Given the description of an element on the screen output the (x, y) to click on. 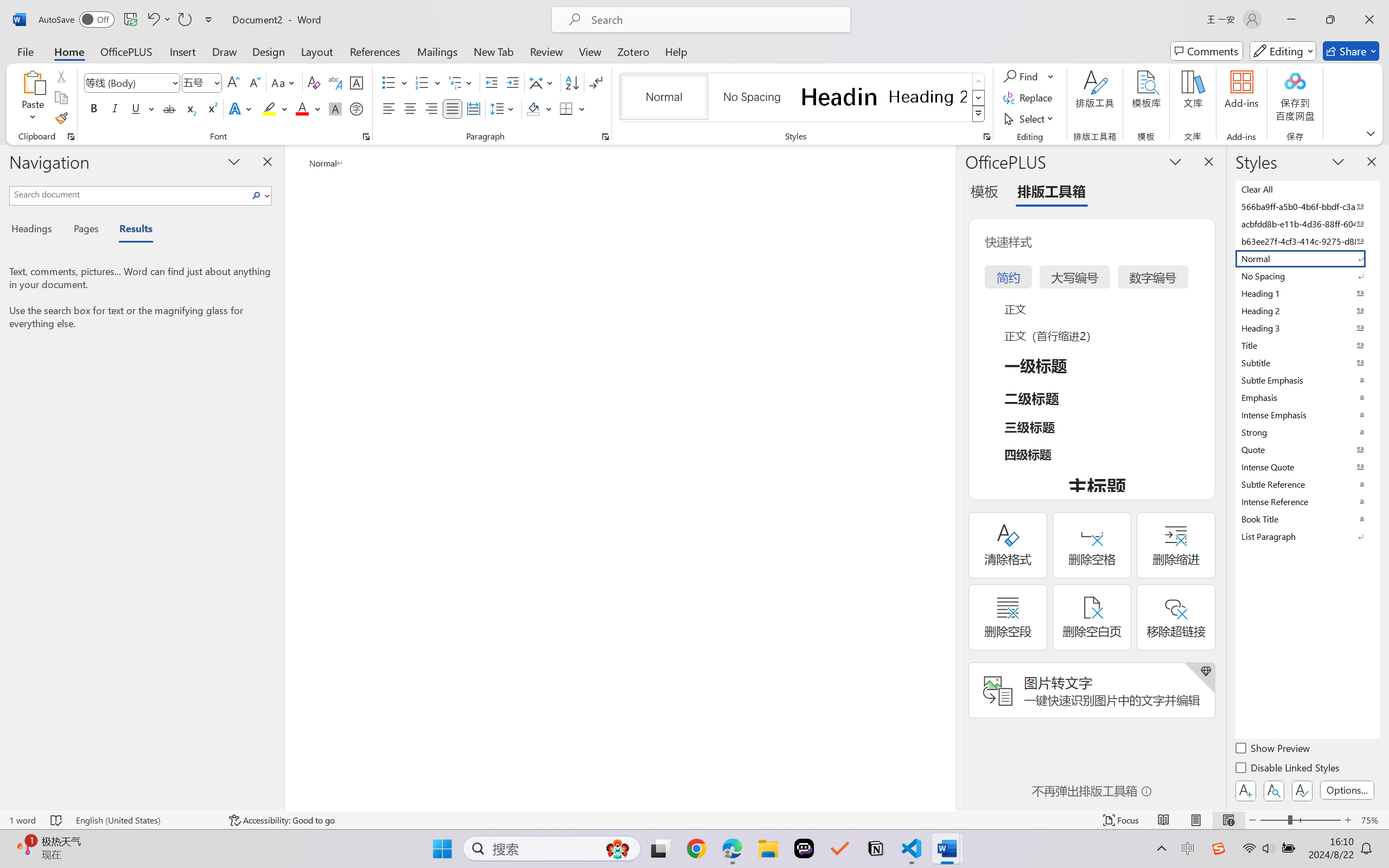
Select (1030, 118)
Mailings (437, 51)
Search (256, 195)
b63ee27f-4cf3-414c-9275-d88e3f90795e (1306, 240)
List Paragraph (1306, 536)
Show Preview (1273, 749)
Focus  (1121, 819)
Help (675, 51)
Results (130, 229)
Zoom (1300, 819)
Strikethrough (169, 108)
